Given the description of an element on the screen output the (x, y) to click on. 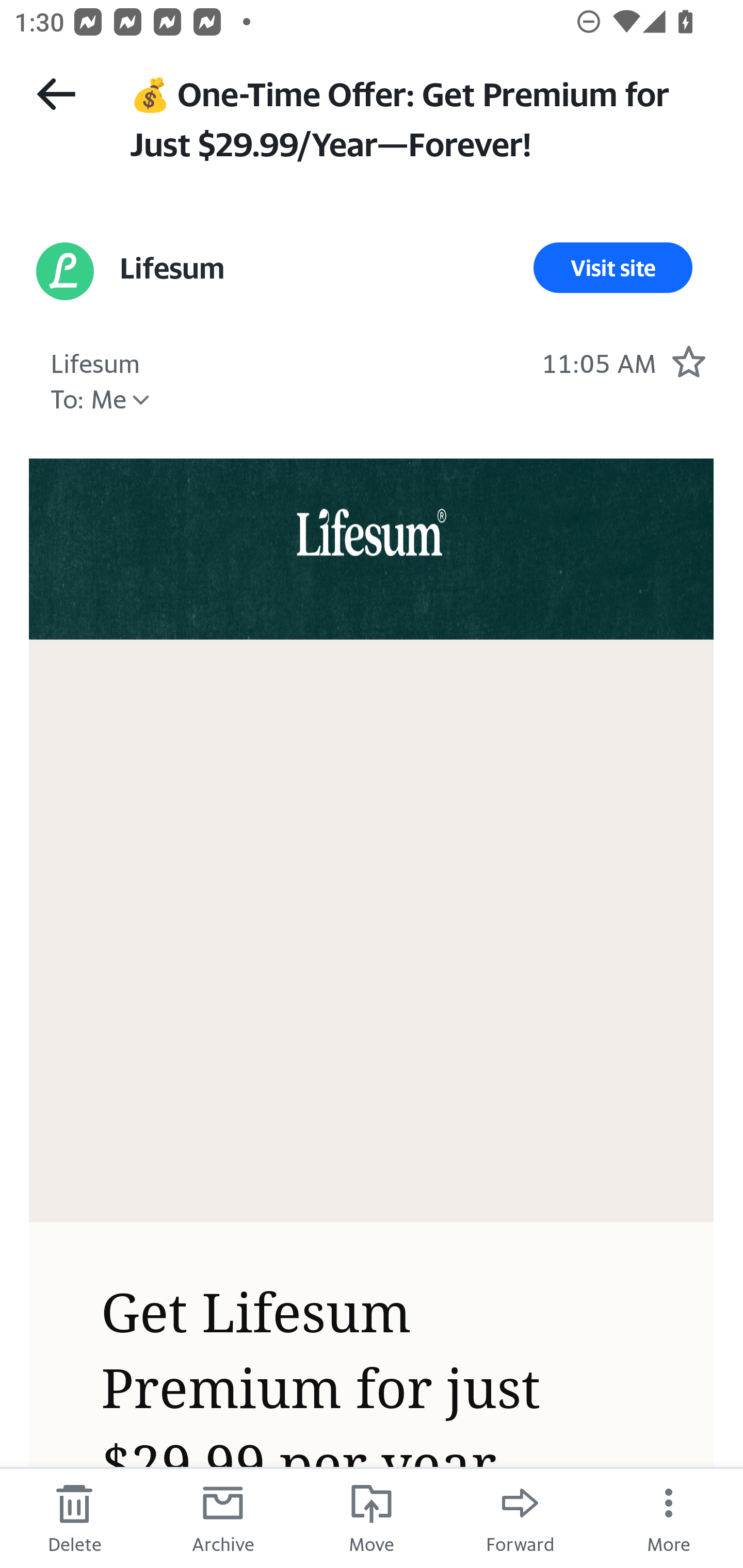
Back (55, 93)
View all messages from sender (64, 271)
Visit site Visit Site Link (612, 268)
Lifesum Sender Lifesum (171, 267)
Lifesum Sender Lifesum (95, 361)
Mark as starred. (688, 361)
Delete (74, 1517)
Archive (222, 1517)
Move (371, 1517)
Forward (519, 1517)
More (668, 1517)
